Given the description of an element on the screen output the (x, y) to click on. 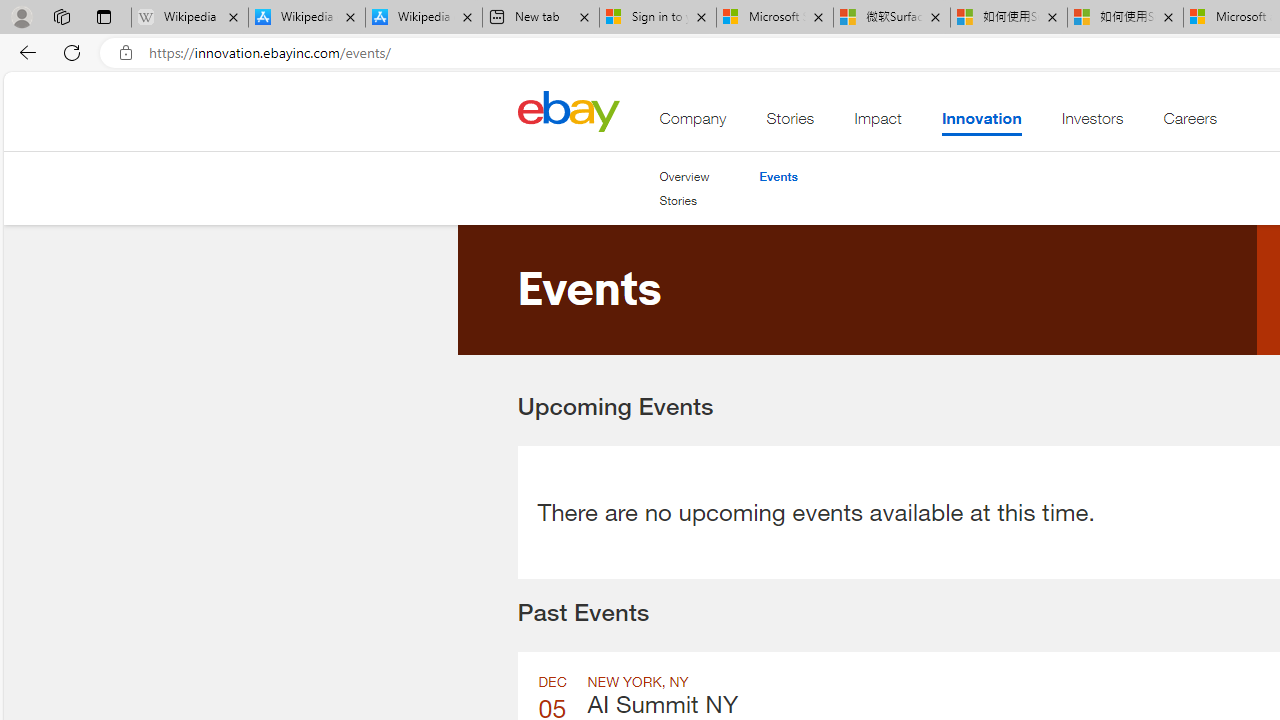
Investors (1092, 123)
Investors (1092, 123)
